Given the description of an element on the screen output the (x, y) to click on. 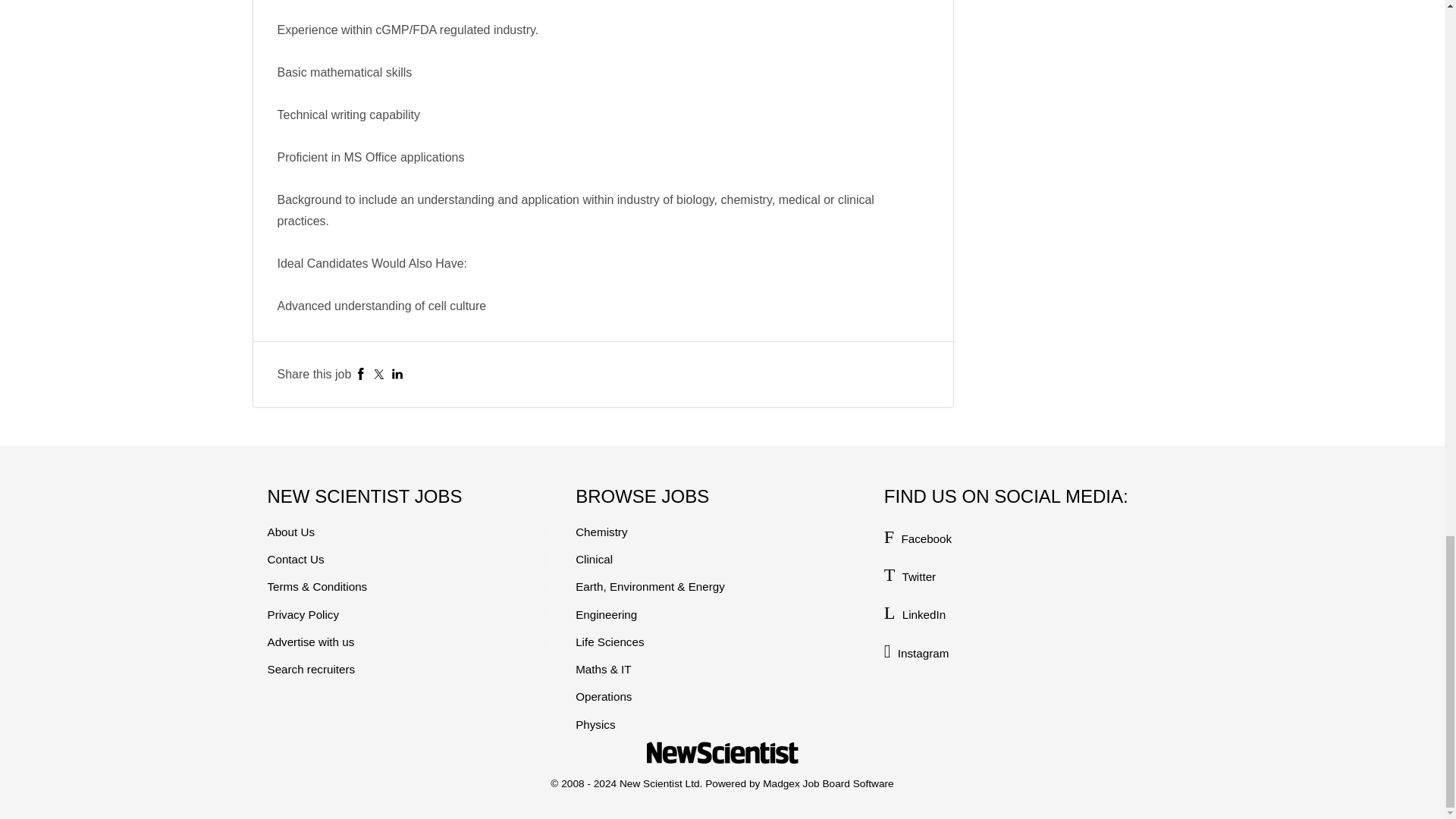
Twitter (378, 373)
Facebook (360, 373)
LinkedIn (397, 373)
